Given the description of an element on the screen output the (x, y) to click on. 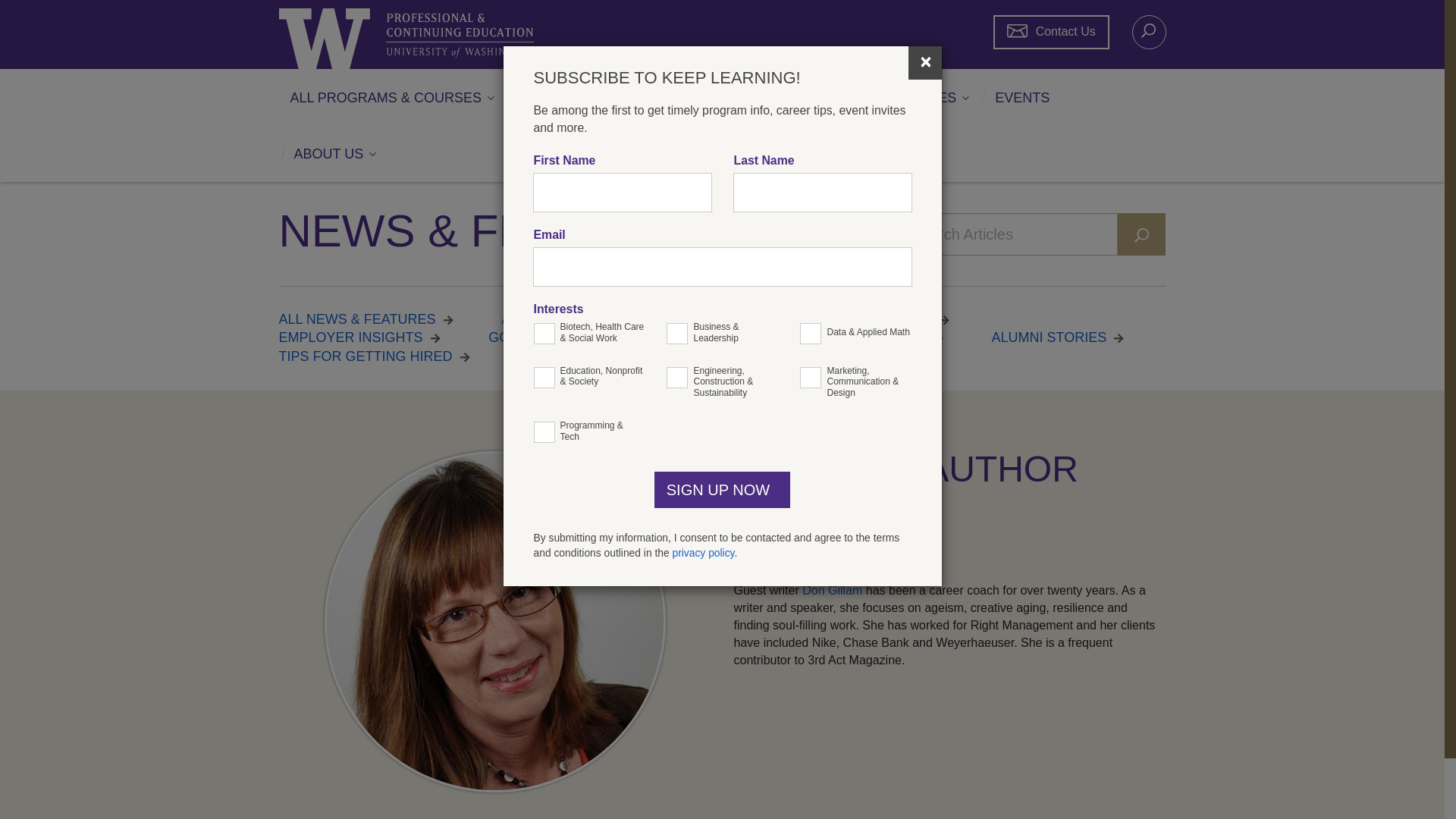
ONLINE PROGRAMS (590, 97)
LOGO (407, 38)
Contact Us (1051, 31)
HELP CENTER (743, 97)
Search (1148, 32)
